Given the description of an element on the screen output the (x, y) to click on. 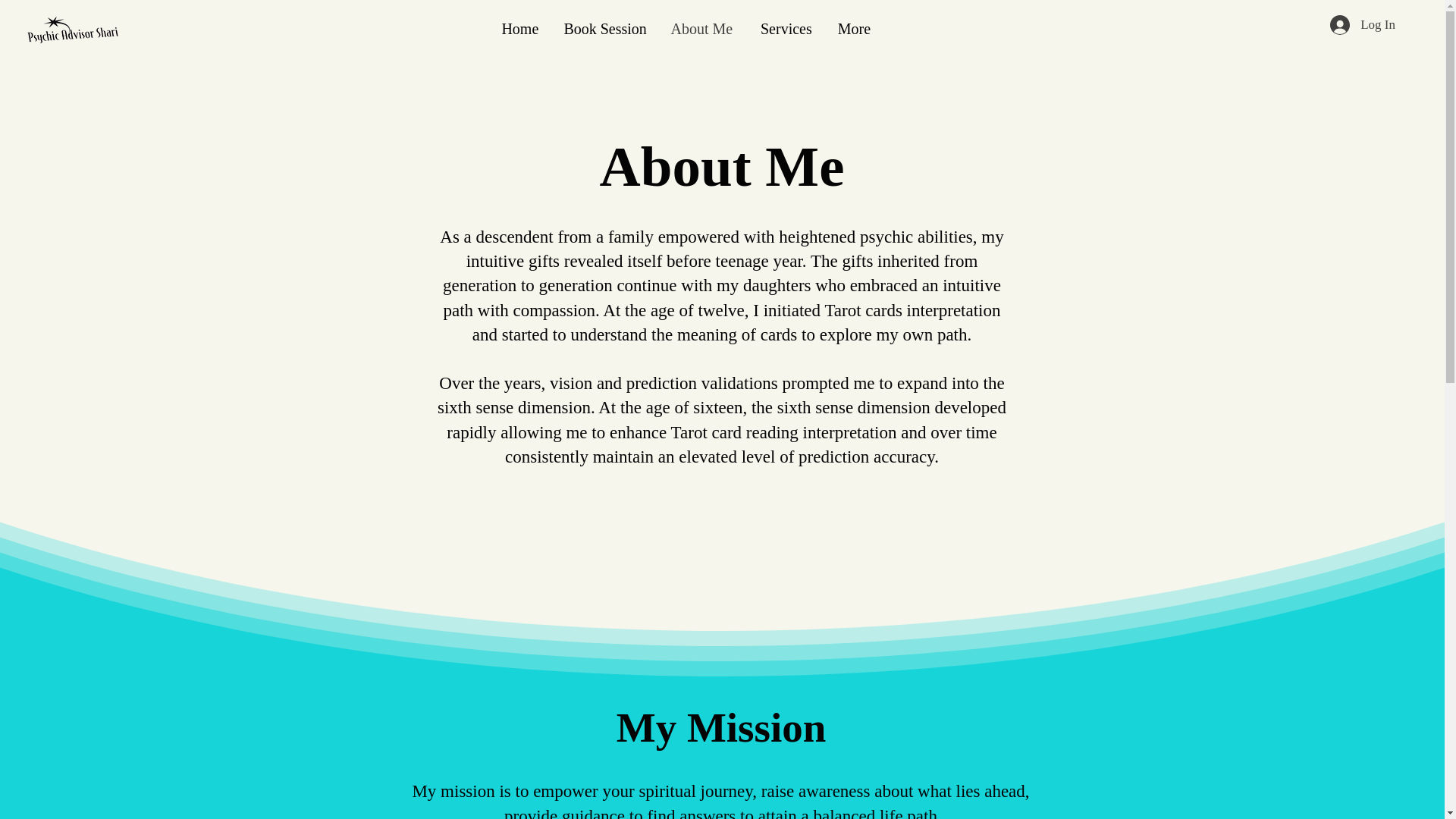
Log In (1362, 24)
About Me (701, 28)
Home (519, 28)
Book Session (603, 28)
